Given the description of an element on the screen output the (x, y) to click on. 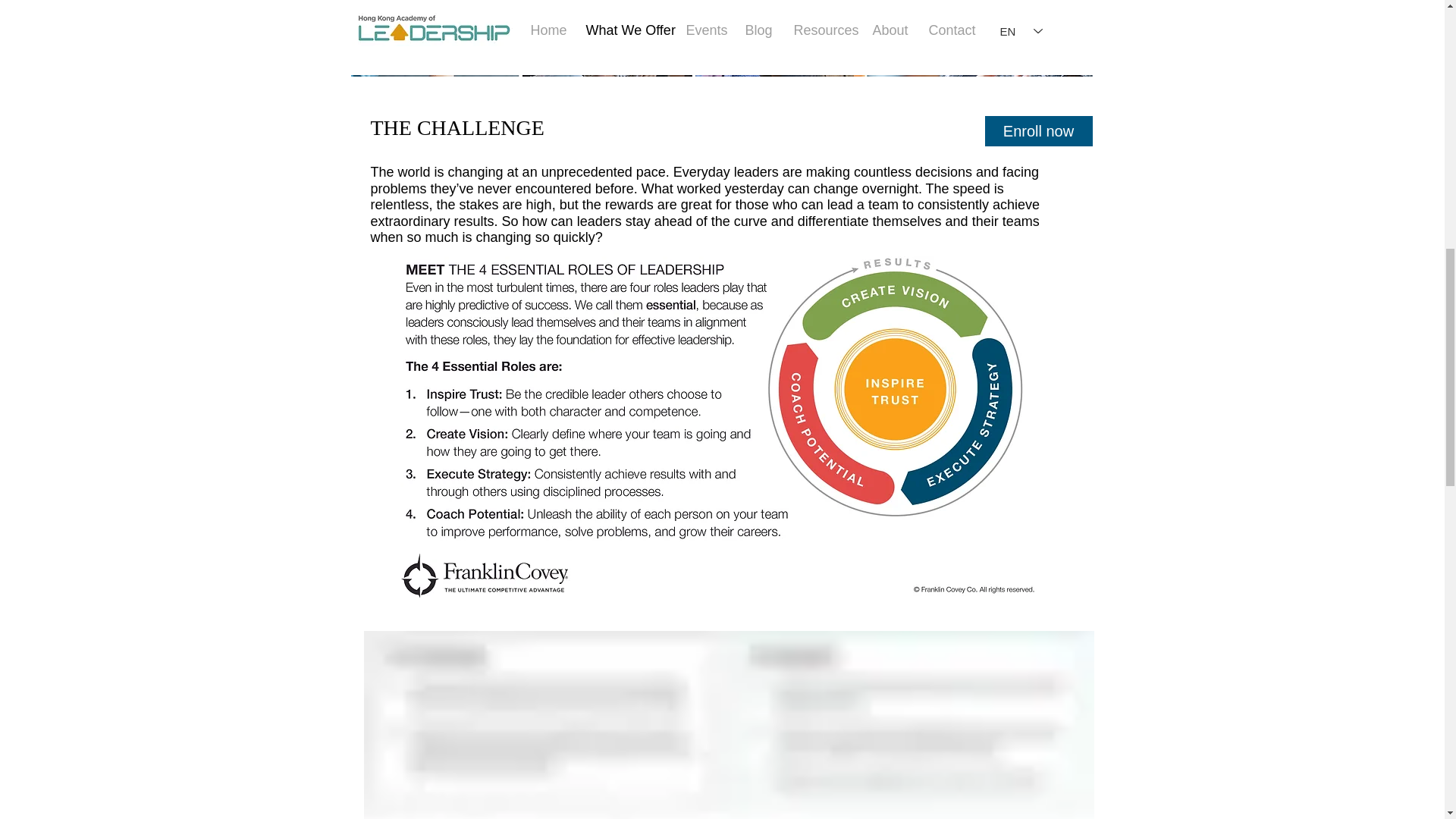
Enroll now (1038, 131)
